Given the description of an element on the screen output the (x, y) to click on. 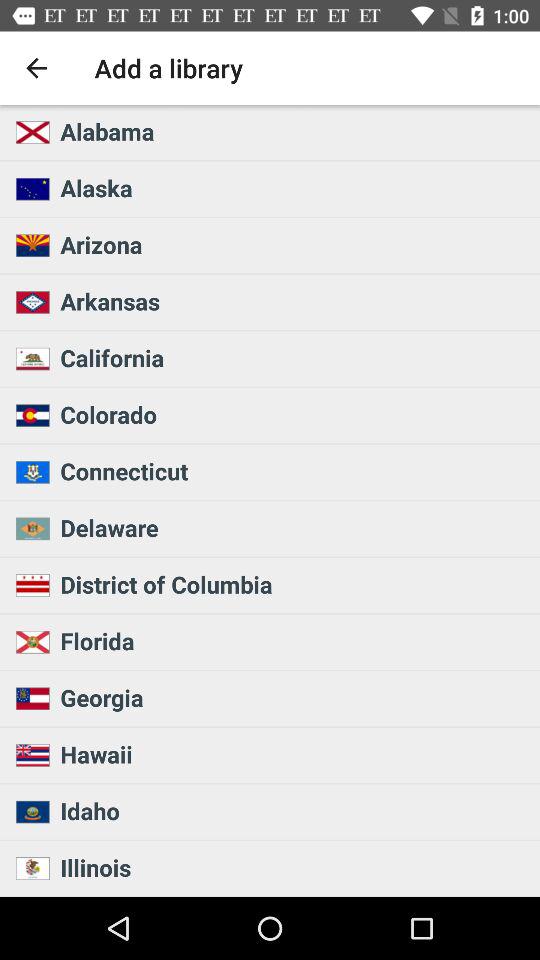
press the item below georgia (294, 754)
